Given the description of an element on the screen output the (x, y) to click on. 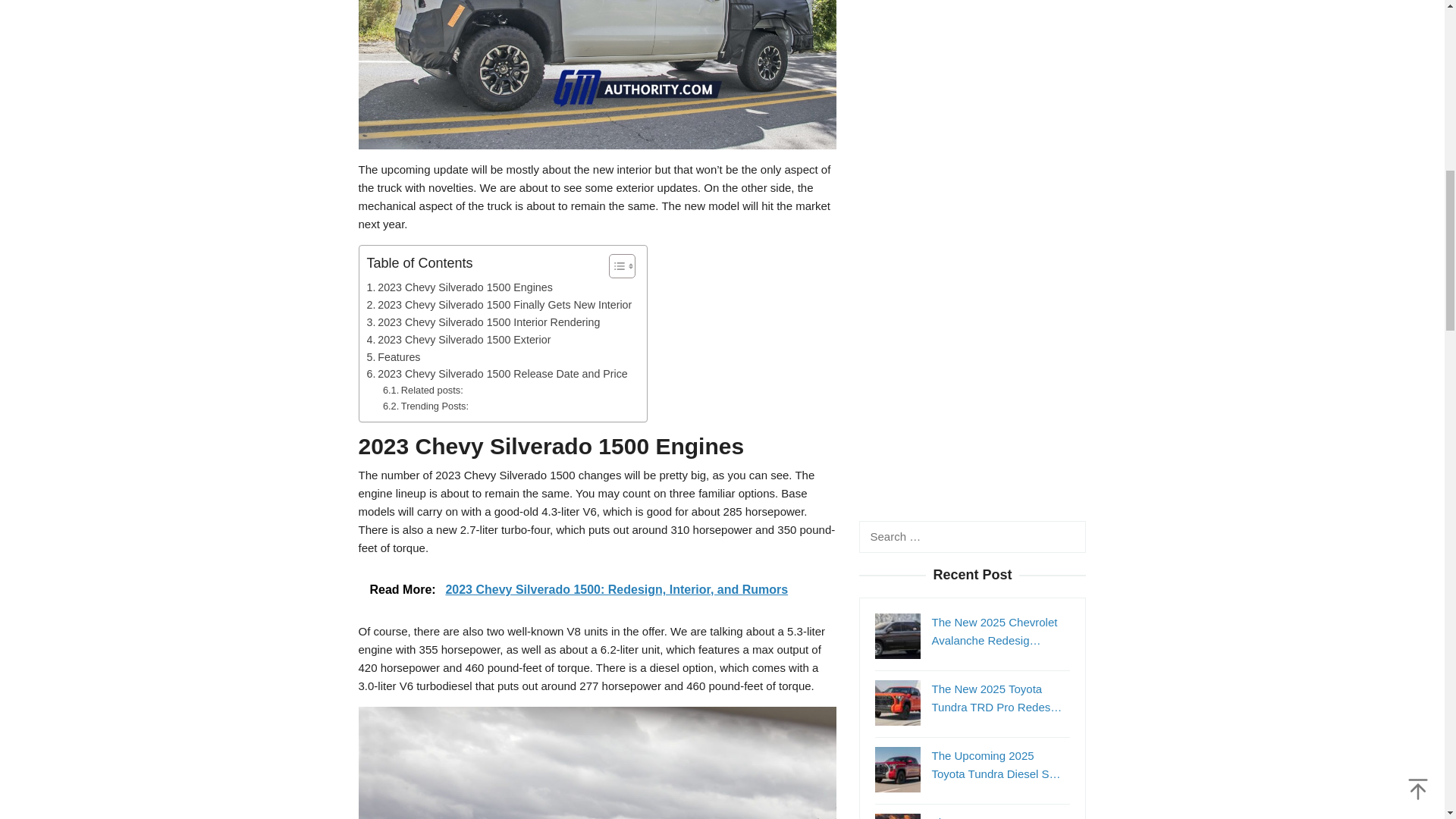
2023 Chevy Silverado 1500 Finally Gets New Interior (498, 304)
Trending Posts: (425, 406)
2023 Chevy Silverado 1500 Interior Rendering (482, 322)
2023 Chevy Silverado 1500 Interior Rendering (482, 322)
2023 Chevy Silverado 1500 Release Date and Price (496, 374)
2023 Chevy Silverado 1500 Engines (459, 287)
2023 Chevy Silverado 1500 Images (596, 74)
Related posts: (422, 390)
Features (393, 357)
Trending Posts: (425, 406)
2023 Chevy Silverado 1500 Exterior (458, 339)
2023 Chevy Silverado 1500 Exterior (458, 339)
2023 Chevy Silverado 1500 Finally Gets New Interior (498, 304)
2023 Chevy Silverado 1500 Release Date and Price (496, 374)
